Given the description of an element on the screen output the (x, y) to click on. 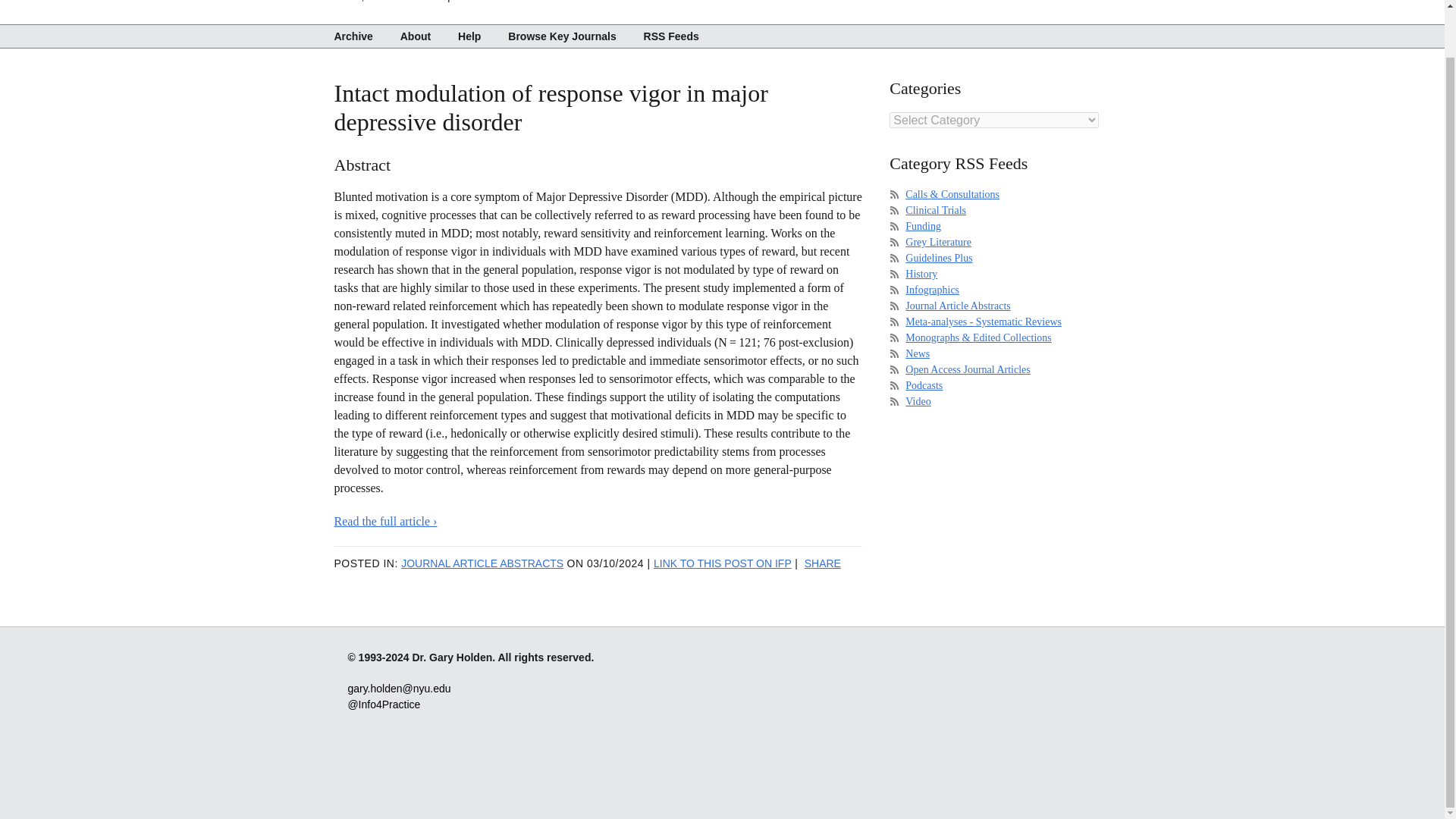
News (917, 353)
Archive (358, 36)
Open Access Journal Articles (967, 369)
Guidelines Plus (938, 257)
JOURNAL ARTICLE ABSTRACTS (482, 563)
Infographics (932, 289)
Video (917, 401)
Journal Article Abstracts (957, 306)
Clinical Trials (935, 210)
Podcasts (923, 385)
Grey Literature (938, 242)
Help (469, 36)
LINK TO THIS POST ON IFP (722, 563)
About (415, 36)
